Given the description of an element on the screen output the (x, y) to click on. 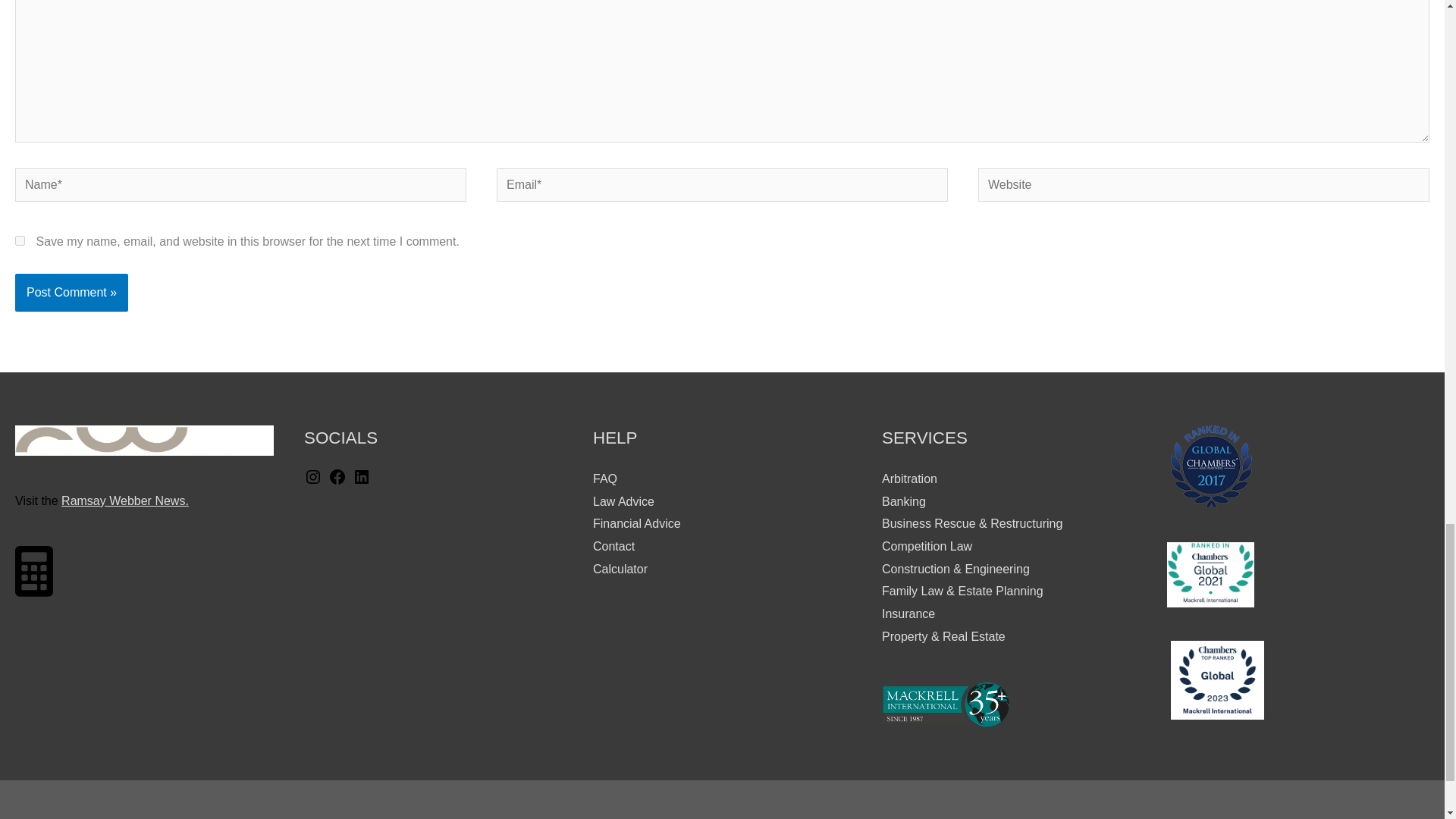
FAQ (604, 478)
Ramsay Webber News. (125, 500)
Contact (613, 545)
Banking (904, 501)
Facebook (337, 481)
yes (19, 240)
Arbitration (909, 478)
Insurance (908, 613)
Instagram (312, 481)
LinkedIn (361, 481)
